Given the description of an element on the screen output the (x, y) to click on. 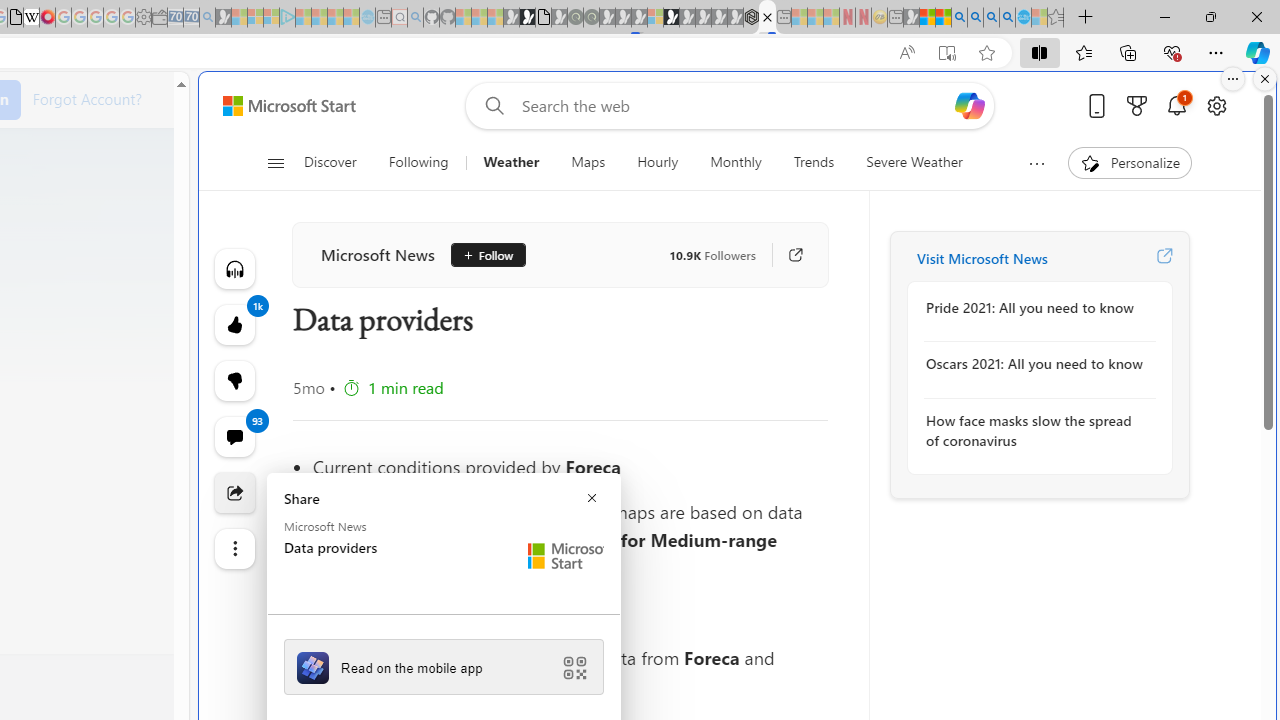
Severe Weather (914, 162)
Go to publisher's site (786, 255)
MediaWiki (47, 17)
Follow (480, 255)
Trends (813, 162)
